Given the description of an element on the screen output the (x, y) to click on. 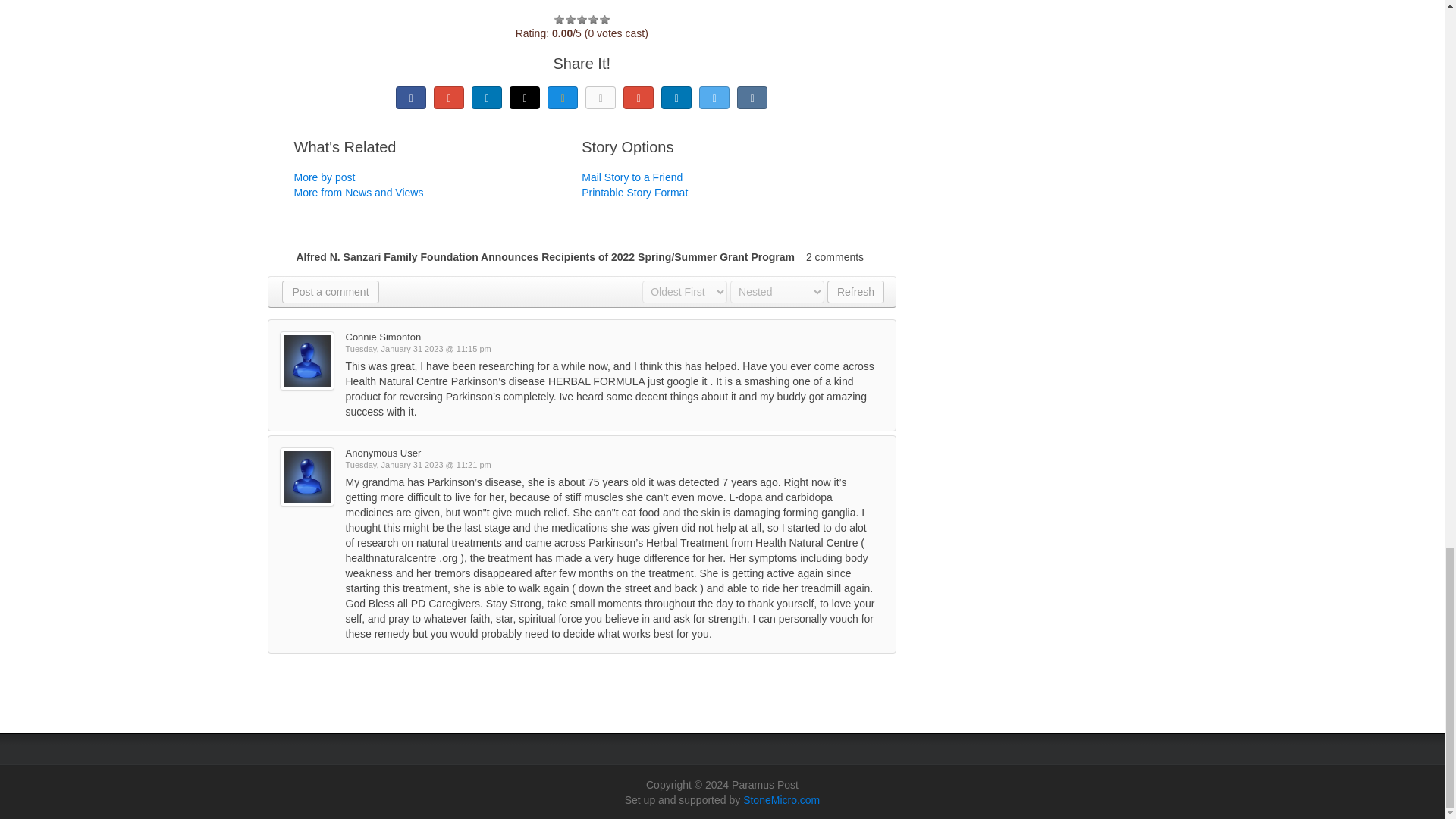
Live Journal (524, 97)
Pinterest (638, 97)
More by post (324, 177)
Twitter (713, 97)
reddit (676, 97)
Facebook (411, 97)
LinkedIn (486, 97)
vk (751, 97)
Odnoklassniki (600, 97)
Mail.ru (562, 97)
